Given the description of an element on the screen output the (x, y) to click on. 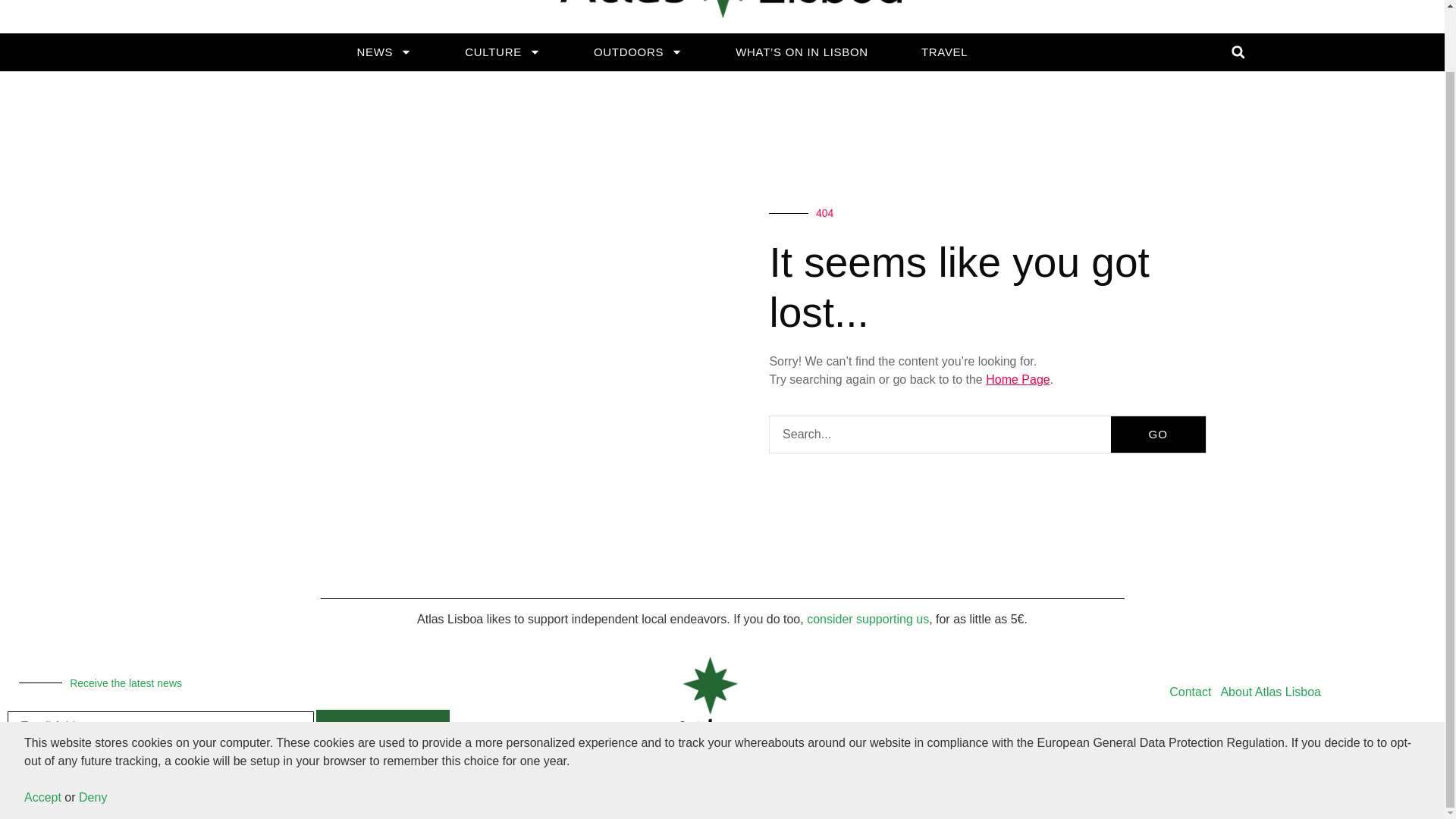
GO (1157, 434)
SUBSCRIBE (382, 726)
Privacy Policy (1206, 727)
TRAVEL (944, 52)
About Atlas Lisboa (1269, 692)
Contact (1189, 692)
OUTDOORS (637, 52)
NEWS (383, 52)
CULTURE (502, 52)
consider supporting us (867, 618)
Partners and Press (1305, 727)
